Given the description of an element on the screen output the (x, y) to click on. 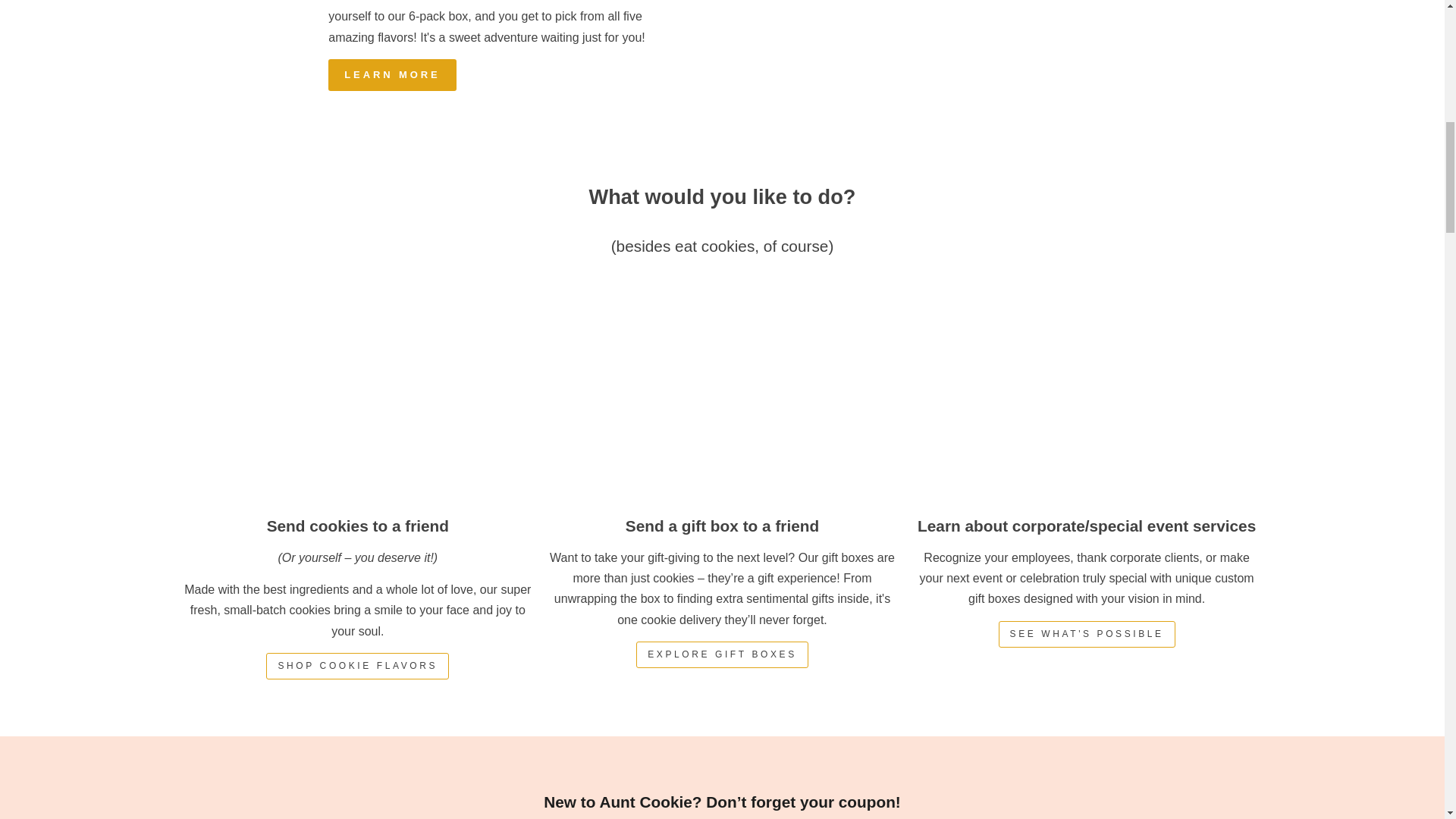
SHOP COOKIE FLAVORS (357, 665)
EXPLORE GIFT BOXES (722, 654)
LEARN MORE (392, 74)
